Given the description of an element on the screen output the (x, y) to click on. 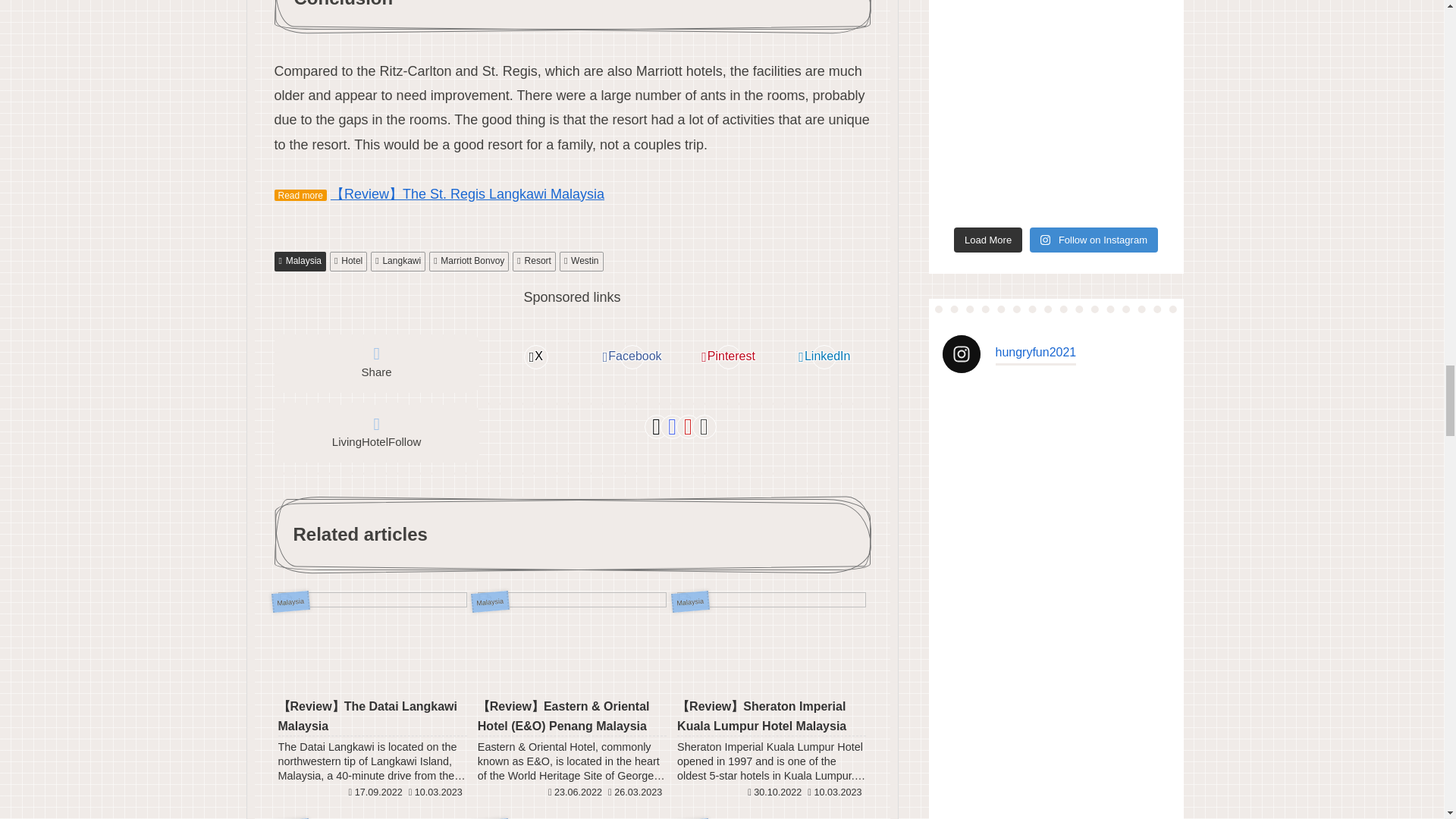
Share on Facebook (632, 357)
LinkedIn (823, 357)
X (535, 357)
Resort (534, 261)
Westin (581, 261)
Pinterest (727, 357)
Hotel (348, 261)
Share on X (535, 357)
Facebook (632, 357)
Malaysia (300, 261)
